Given the description of an element on the screen output the (x, y) to click on. 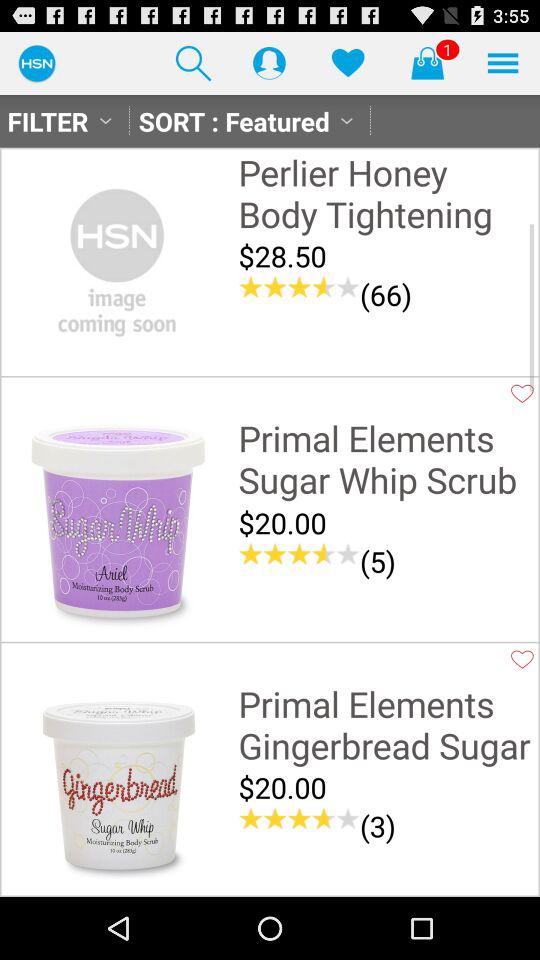
liked items (348, 62)
